Given the description of an element on the screen output the (x, y) to click on. 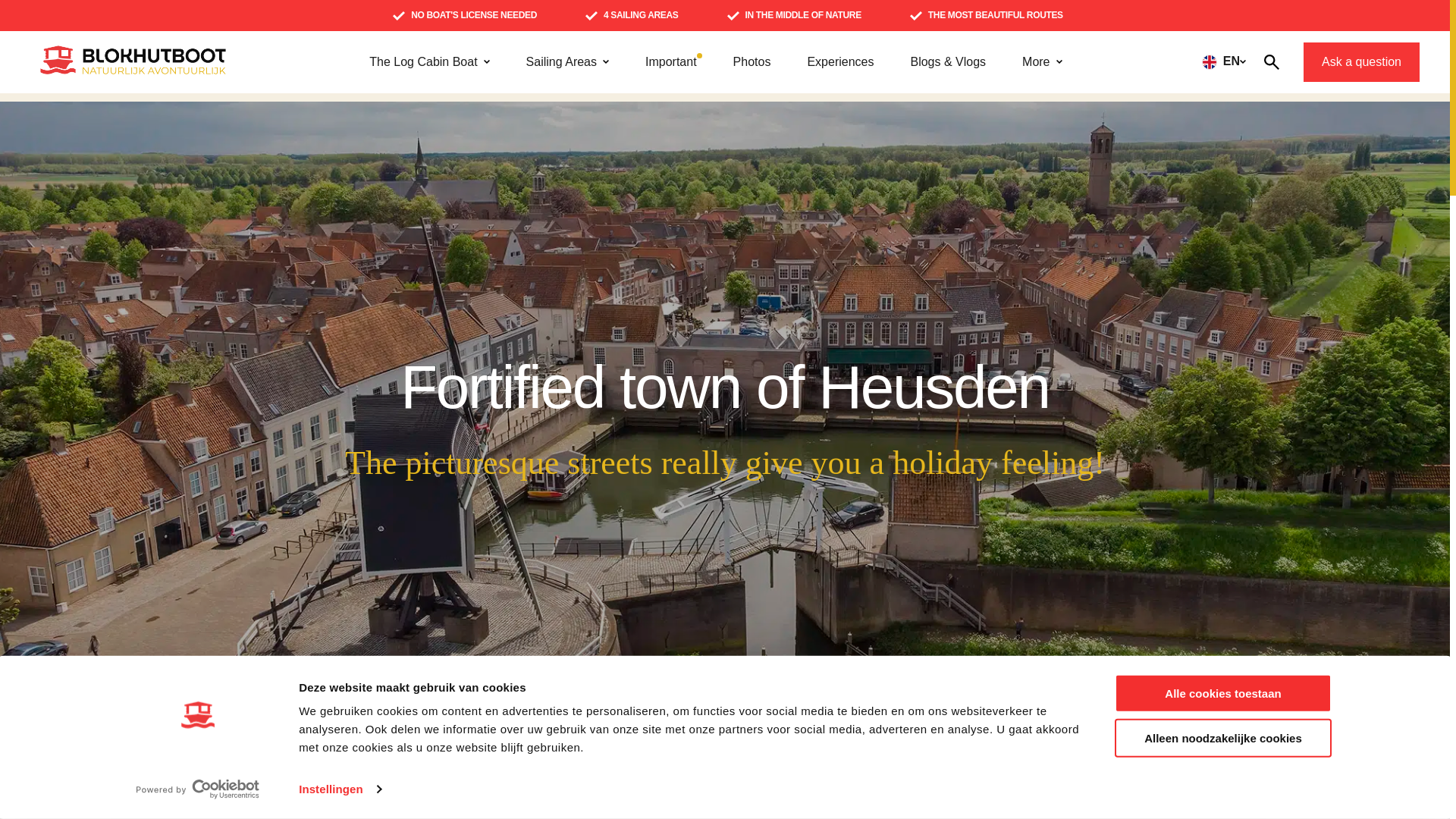
The Log Cabin Boat (429, 61)
Instellingen (339, 789)
Alleen noodzakelijke cookies (1223, 738)
Alle cookies toestaan (1223, 693)
